Given the description of an element on the screen output the (x, y) to click on. 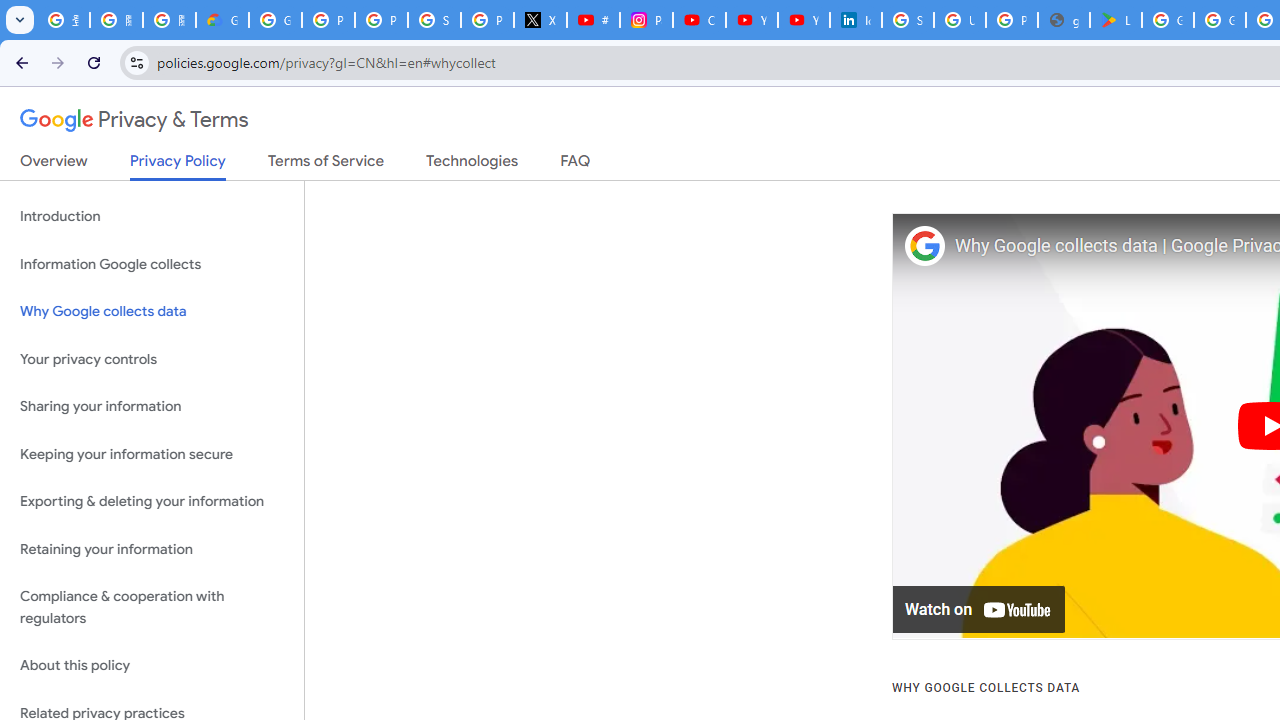
Keeping your information secure (152, 453)
google_privacy_policy_en.pdf (1064, 20)
